Given the description of an element on the screen output the (x, y) to click on. 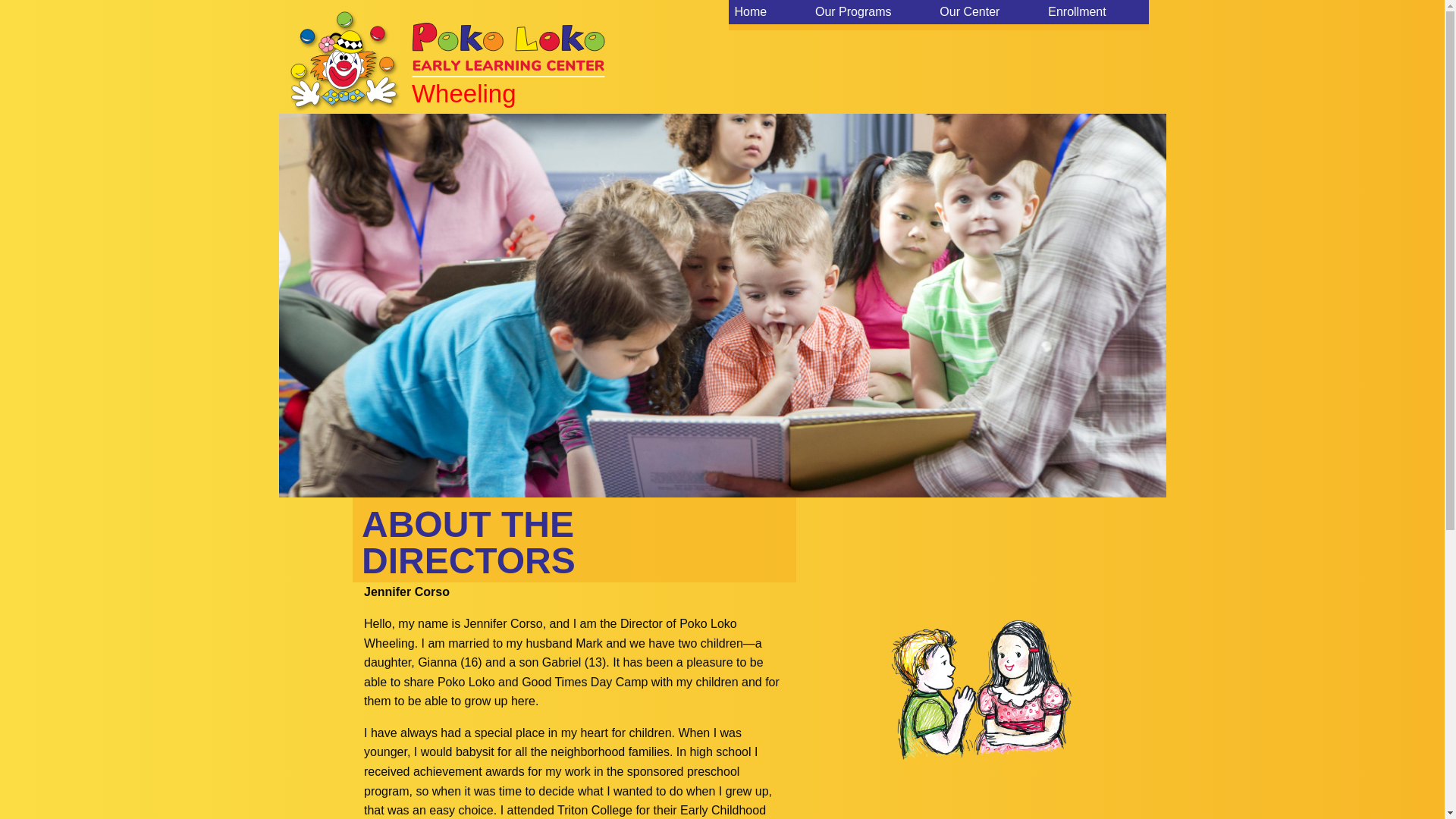
Contact Us (1090, 17)
Enrollment (1095, 12)
About Us (979, 17)
Our Programs (871, 12)
Home--select a location for details (871, 17)
Locations (871, 17)
Our Center (987, 12)
Home (772, 17)
Home (508, 56)
Home (508, 56)
